Given the description of an element on the screen output the (x, y) to click on. 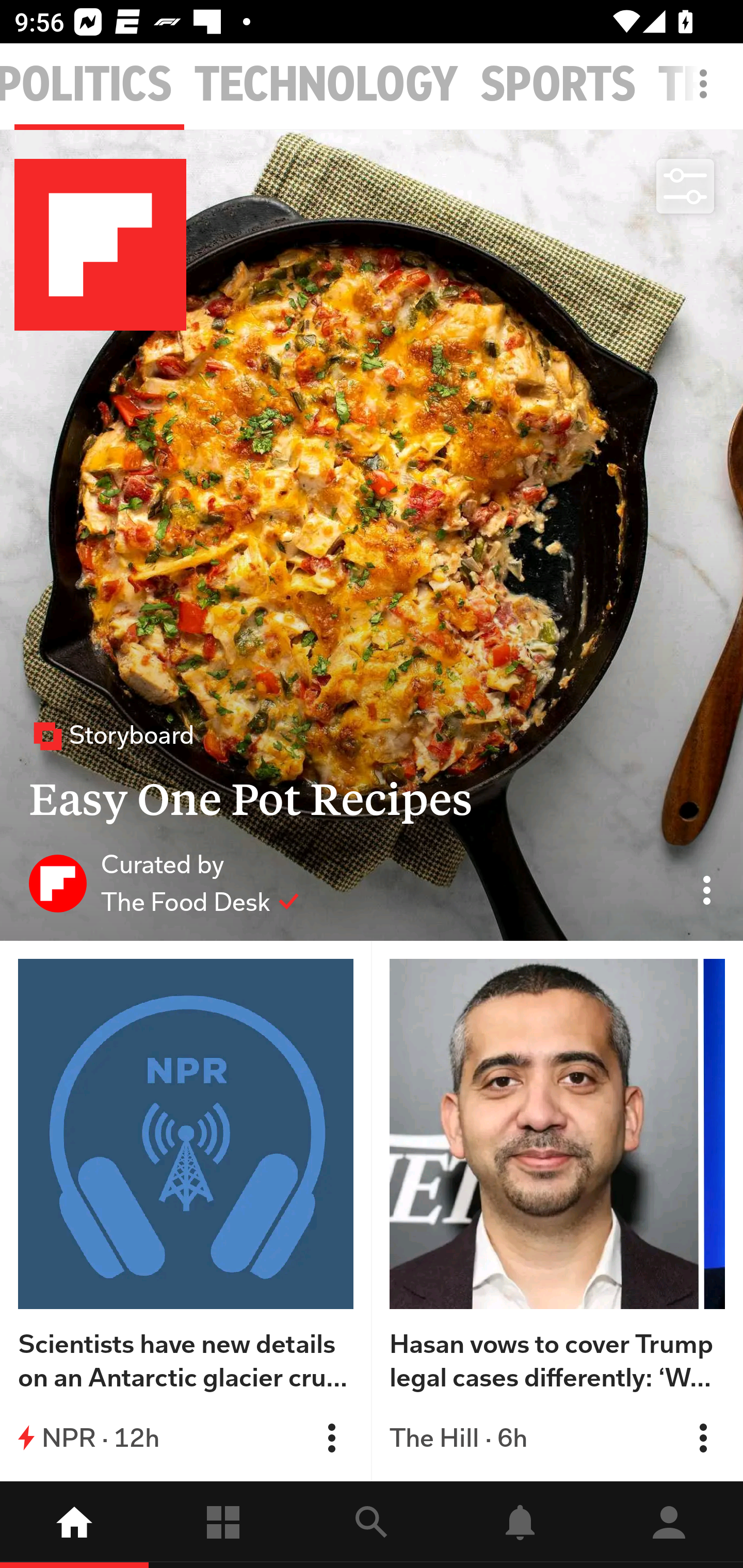
POLITICS (86, 84)
TECHNOLOGY (326, 84)
SPORTS (558, 84)
More options (706, 93)
Curated by The Food Desk (163, 882)
NPR · 12h Flip into Magazine (185, 1437)
The Hill · 6h Flip into Magazine (557, 1437)
Flip into Magazine (331, 1437)
Flip into Magazine (703, 1437)
home (74, 1524)
Following (222, 1524)
explore (371, 1524)
Notifications (519, 1524)
Profile (668, 1524)
